Given the description of an element on the screen output the (x, y) to click on. 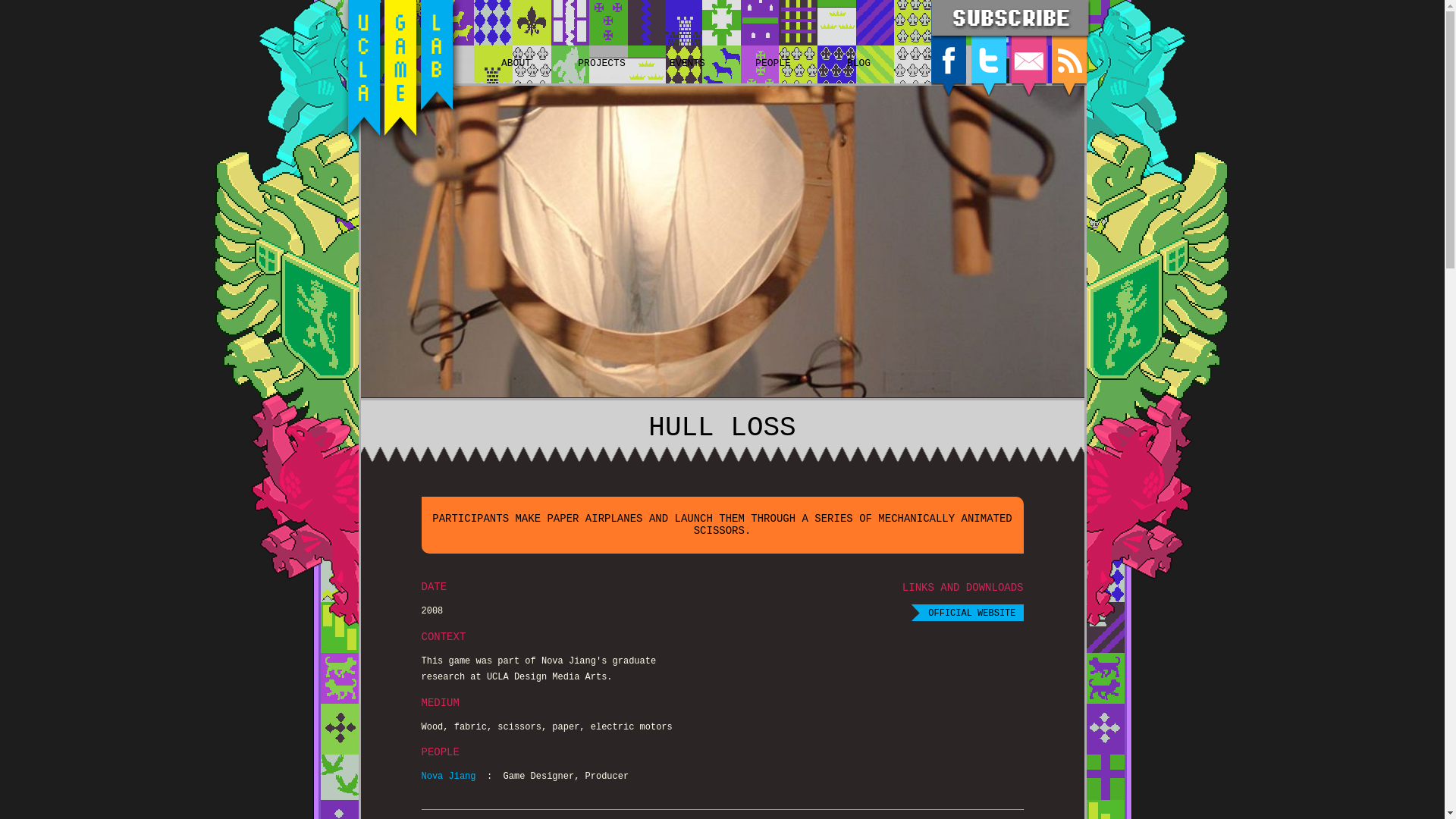
PROJECTS (601, 38)
ABOUT (516, 38)
PEOPLE (772, 38)
OFFICIAL WEBSITE (967, 612)
BLOG (858, 38)
EVENTS (687, 38)
